Given the description of an element on the screen output the (x, y) to click on. 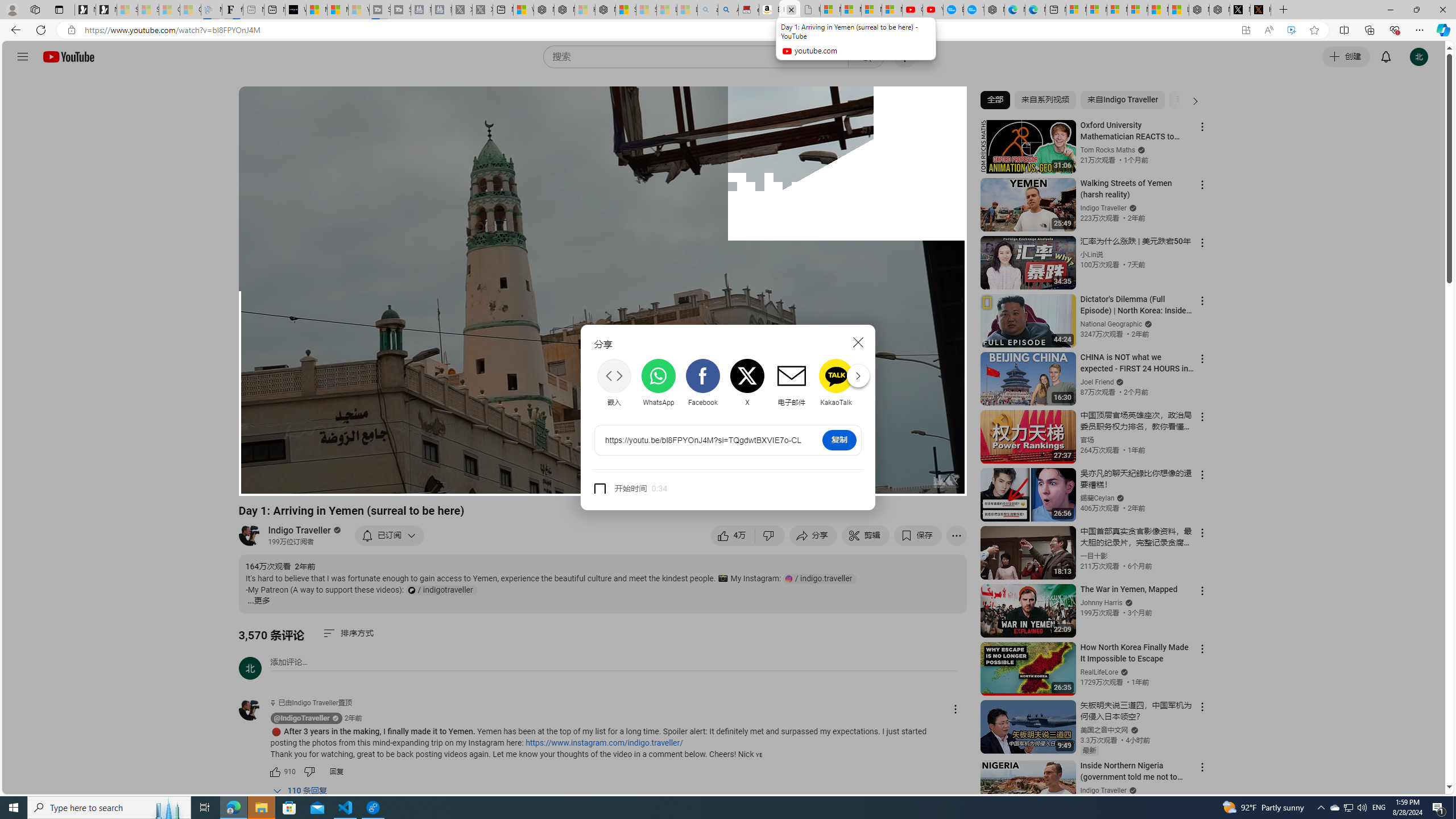
Enhance video (1291, 29)
Reddit (879, 382)
